Given the description of an element on the screen output the (x, y) to click on. 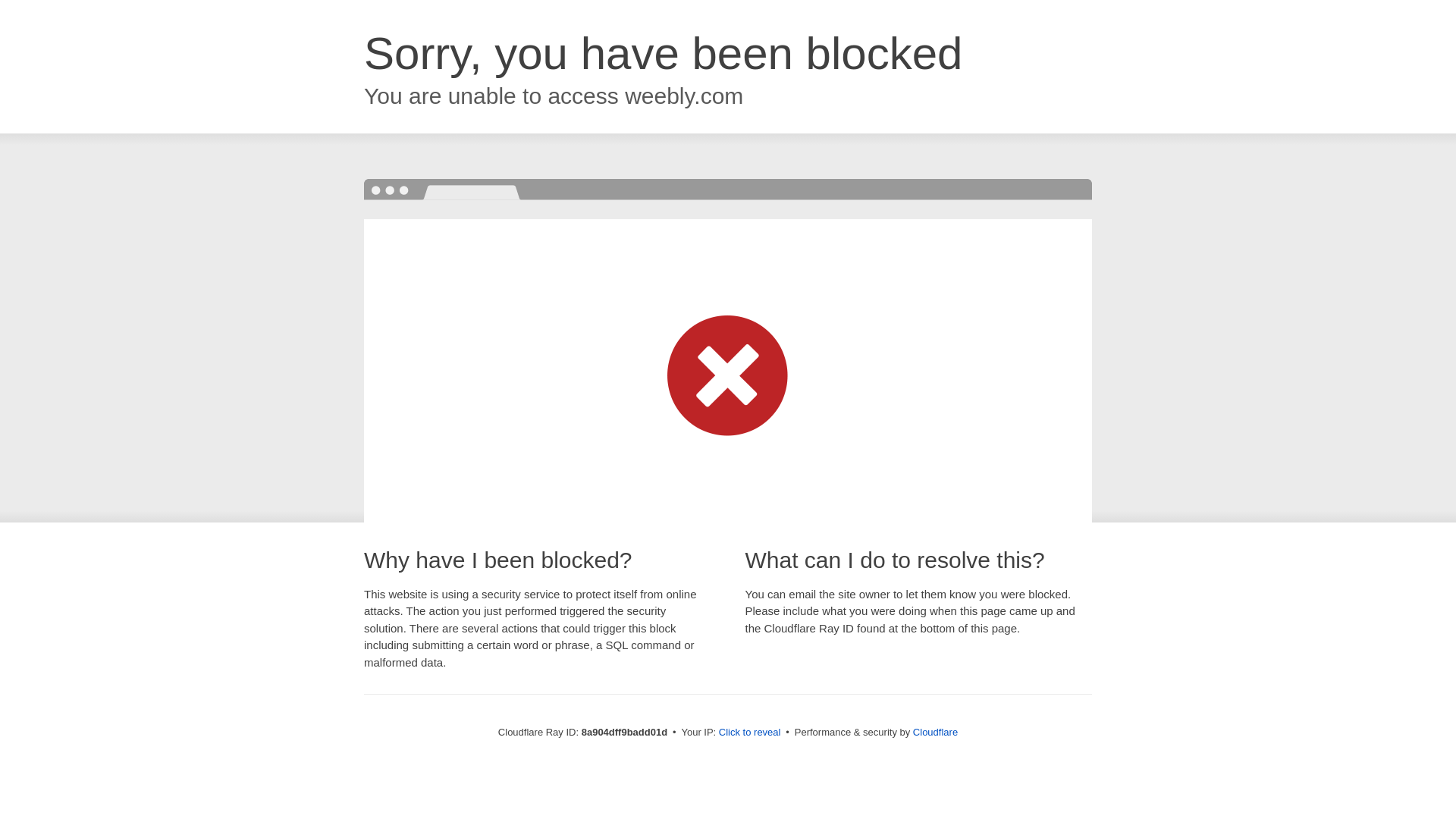
Cloudflare (935, 731)
Click to reveal (749, 732)
